Given the description of an element on the screen output the (x, y) to click on. 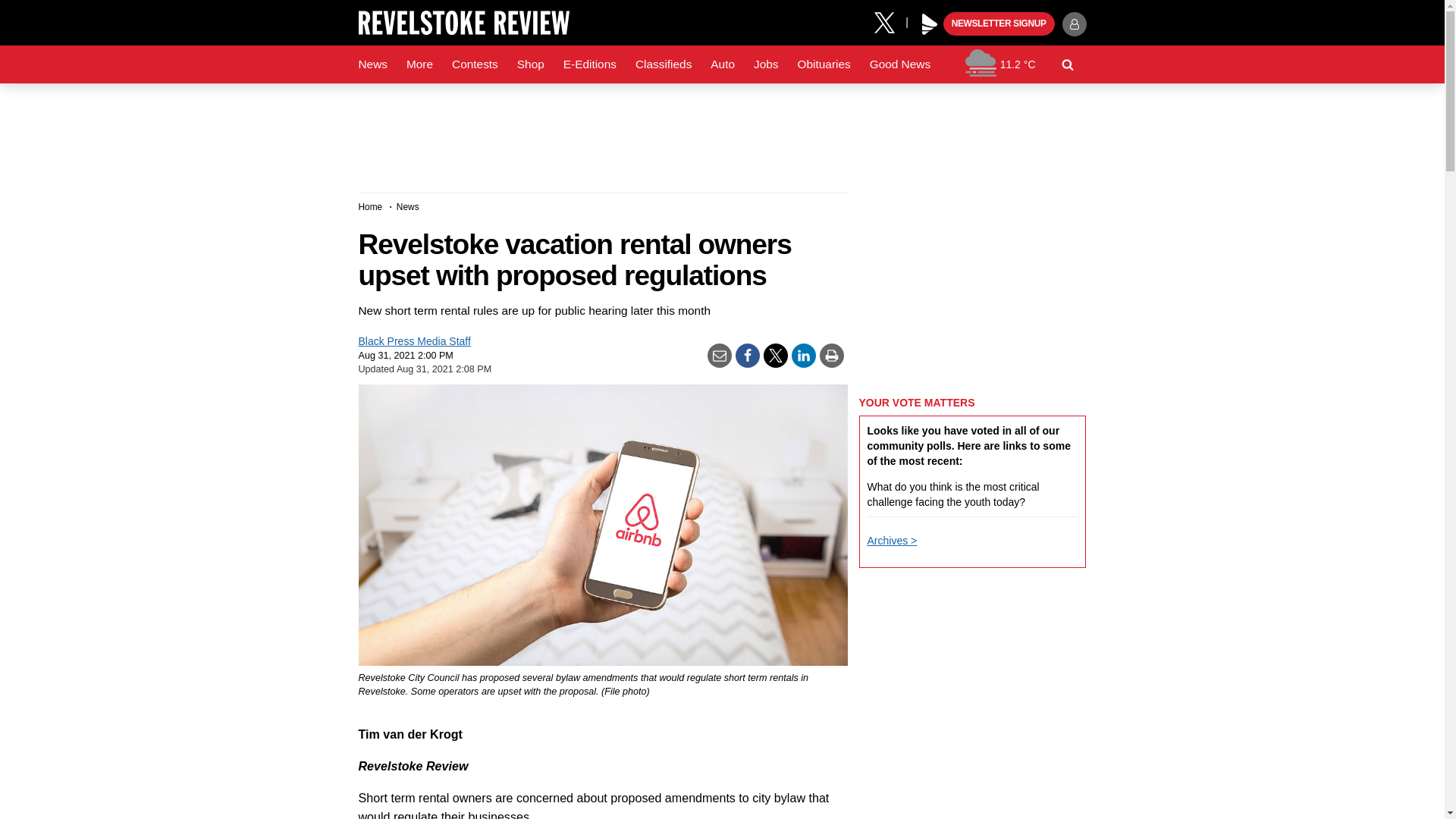
Black Press Media (929, 24)
Play (929, 24)
3rd party ad content (972, 287)
News (372, 64)
3rd party ad content (721, 131)
3rd party ad content (972, 678)
NEWSLETTER SIGNUP (998, 24)
3rd party ad content (972, 803)
X (889, 21)
